Given the description of an element on the screen output the (x, y) to click on. 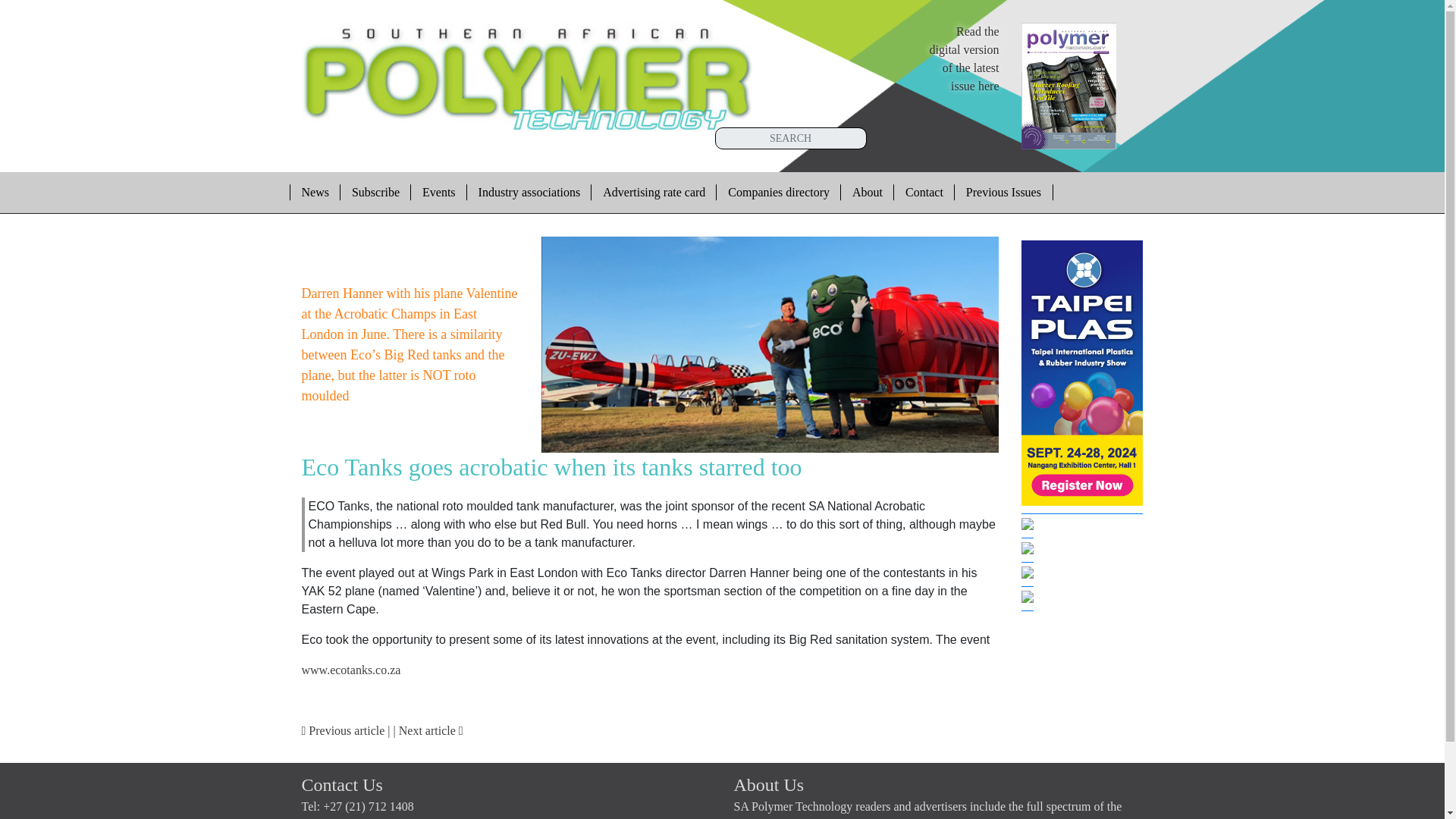
Events (438, 191)
Contact (924, 191)
About (867, 191)
www.ecotanks.co.za (964, 58)
Previous Issues (351, 669)
Industry associations (1003, 191)
Advertising rate card (529, 191)
News (653, 191)
Subscribe (314, 191)
